Given the description of an element on the screen output the (x, y) to click on. 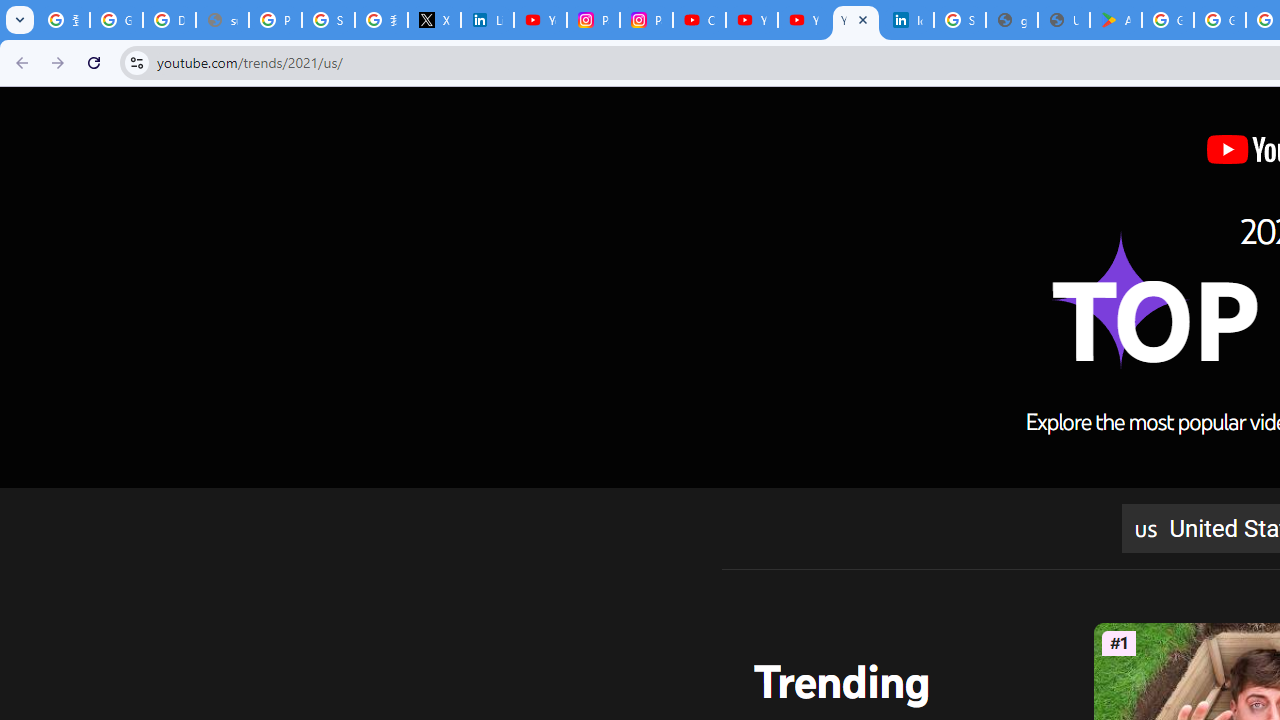
YouTube Culture & Trends - YouTube Top 10, 2021 (855, 20)
X (434, 20)
Android Apps on Google Play (1115, 20)
LinkedIn Privacy Policy (487, 20)
YouTube Culture & Trends - YouTube Top 10, 2021 (803, 20)
support.google.com - Network error (222, 20)
Sign in - Google Accounts (328, 20)
